Given the description of an element on the screen output the (x, y) to click on. 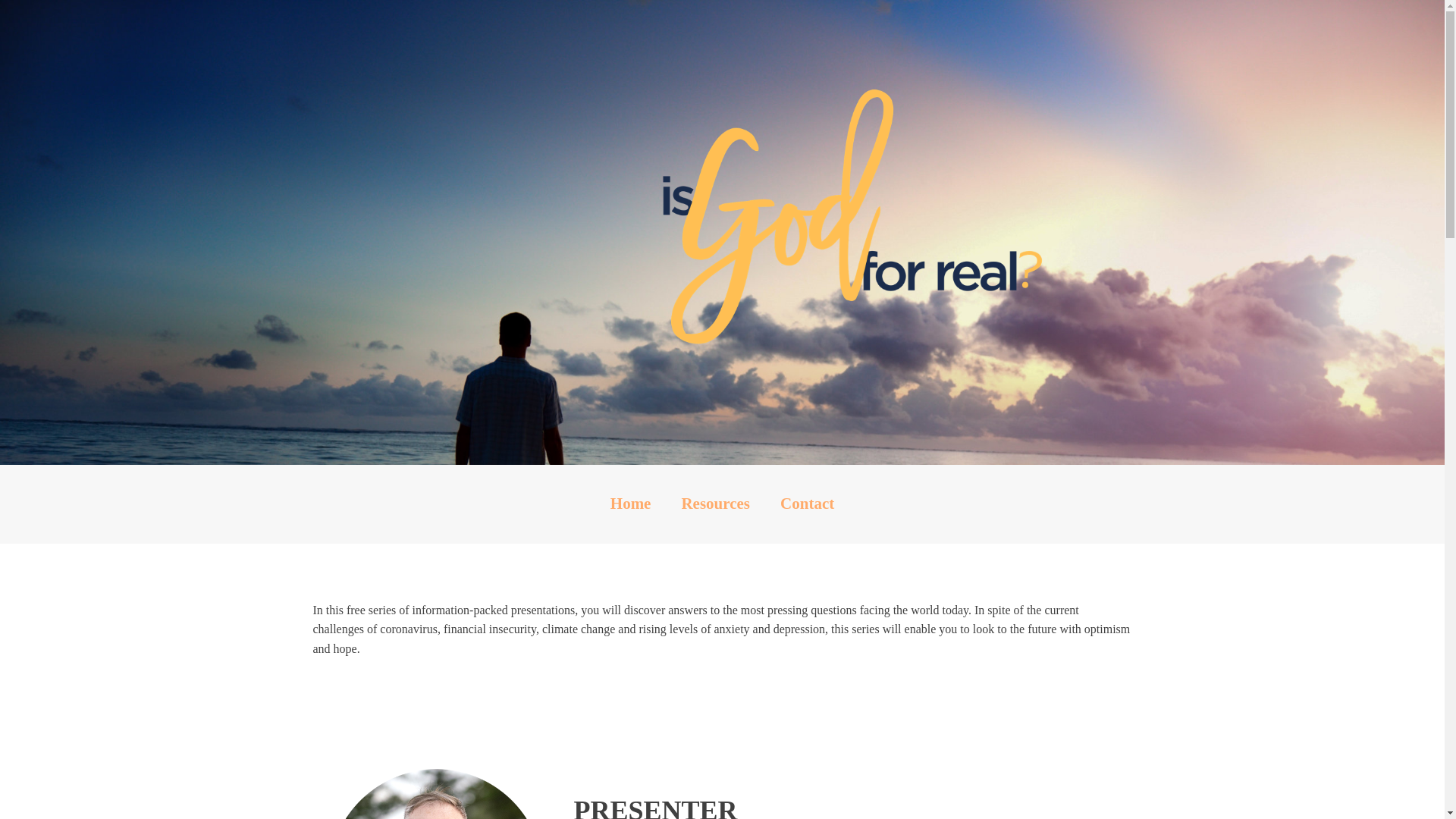
Contact Element type: text (807, 504)
Resources Element type: text (715, 504)
Home Element type: text (630, 504)
